Given the description of an element on the screen output the (x, y) to click on. 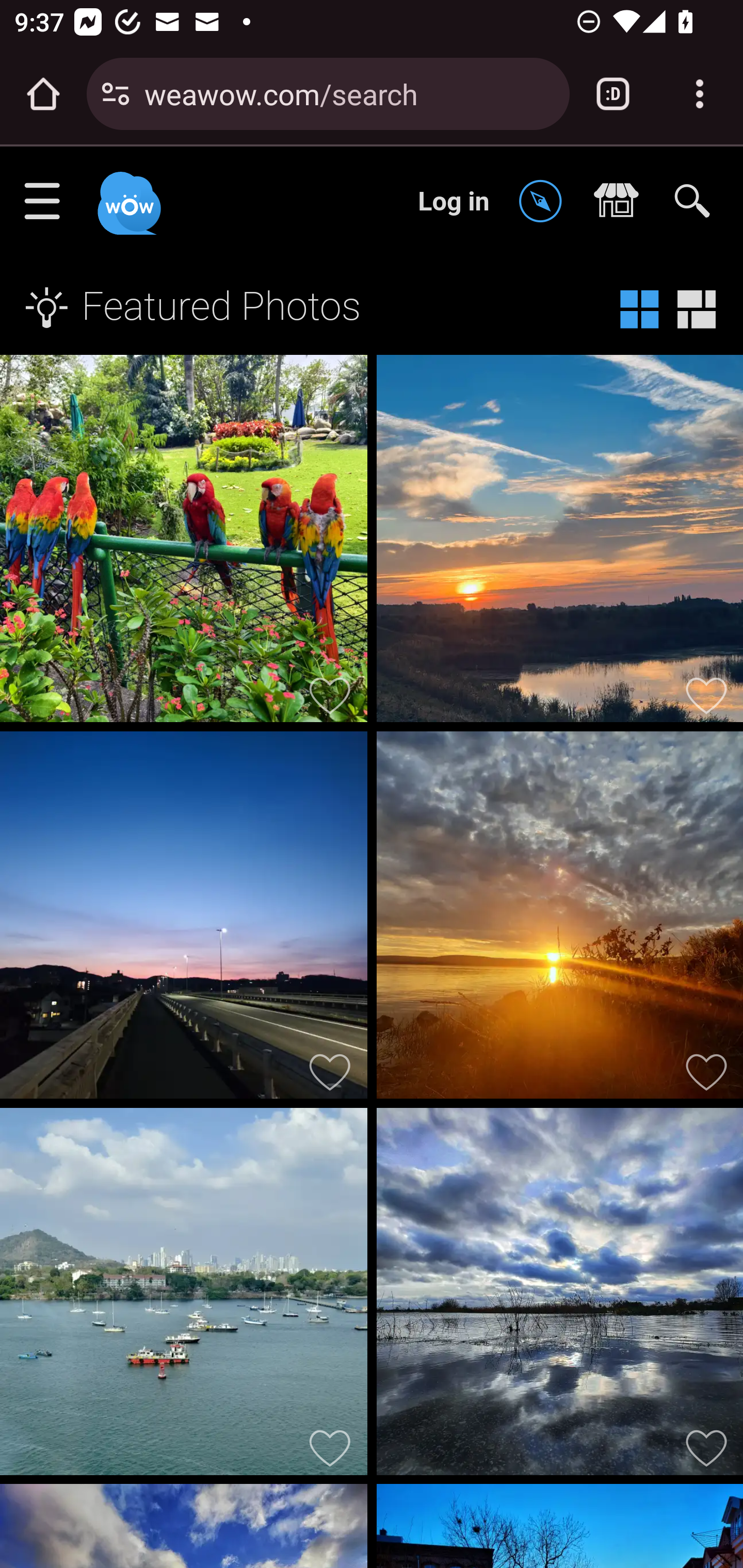
Open the home page (43, 93)
Connection is secure (115, 93)
Switch or close tabs (612, 93)
Customize and control Google Chrome (699, 93)
weawow.com/search (349, 92)
Weawow (127, 194)
 (545, 201)
 (621, 201)
Log in (453, 201)
Weather forecasts with beautiful photos by あさのジジ (184, 918)
Weather forecasts with beautiful photos by Bagi (559, 918)
Weather forecasts with beautiful photos by Arev (559, 1295)
